Given the description of an element on the screen output the (x, y) to click on. 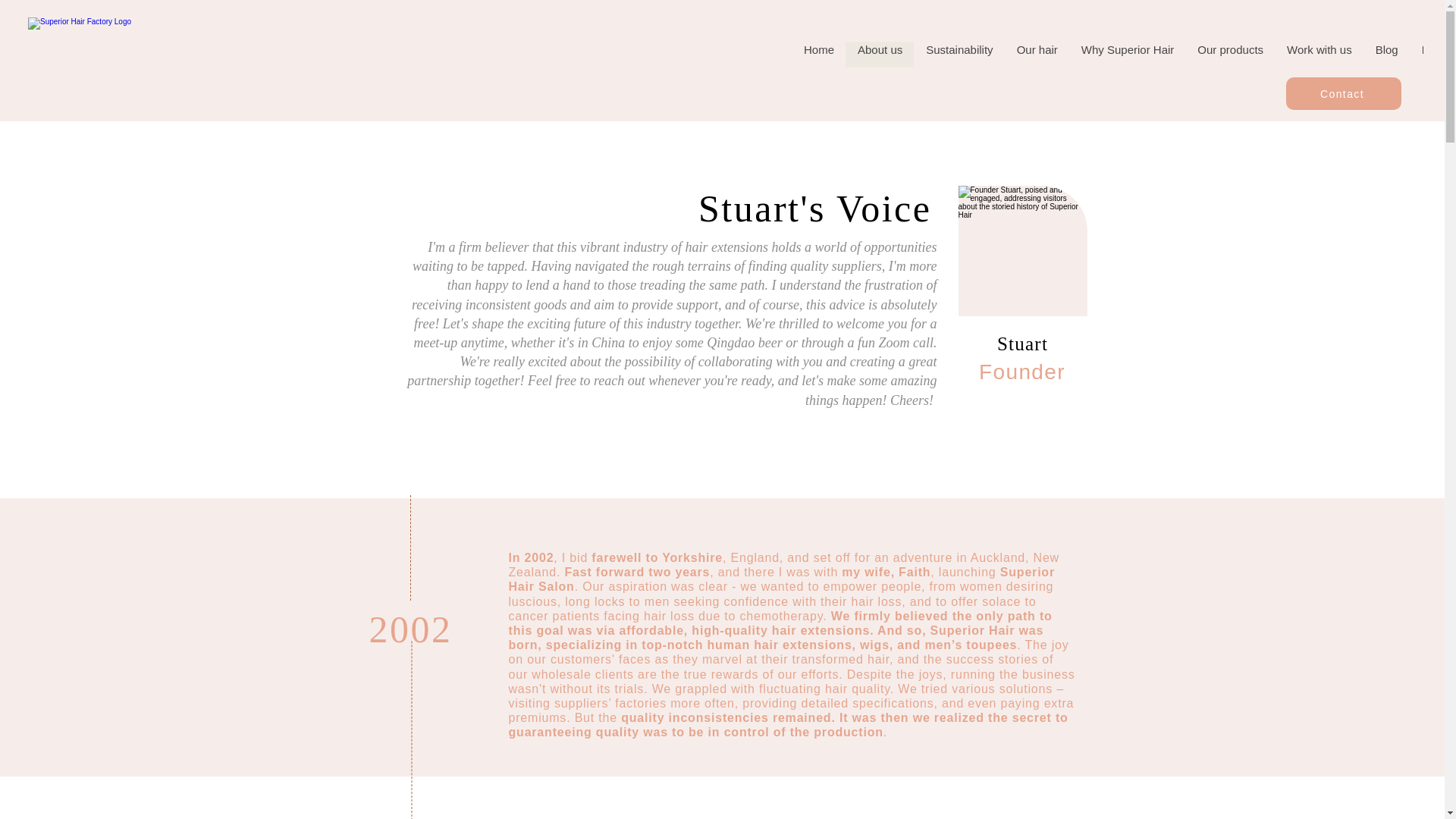
Why Superior Hair (1127, 54)
Work with us (1318, 54)
Our hair (1036, 54)
Sustainability (959, 54)
About us (879, 54)
Home (818, 54)
Contact (1342, 92)
Our products (1230, 54)
Blog (1385, 54)
